Given the description of an element on the screen output the (x, y) to click on. 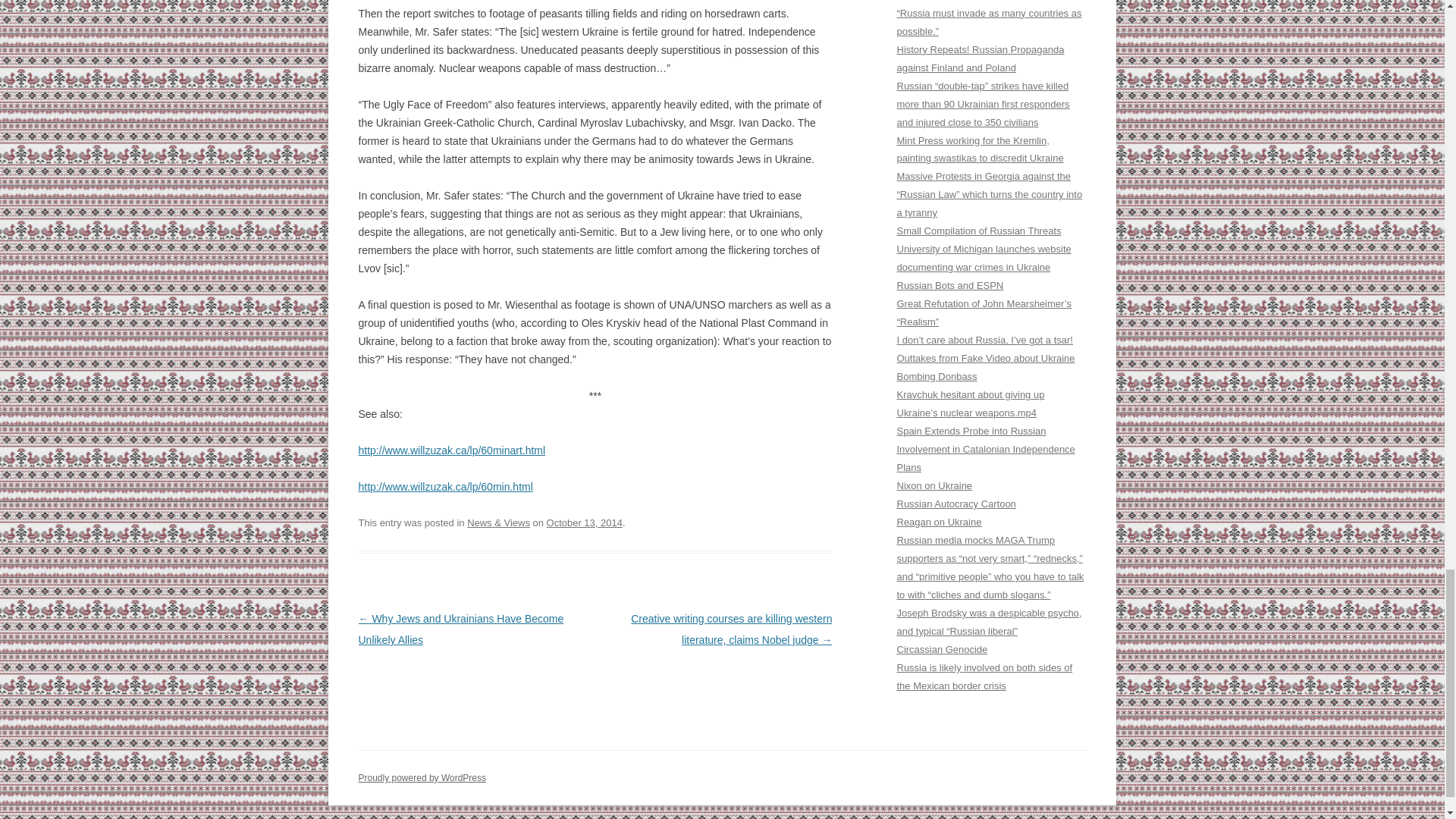
October 13, 2014 (585, 522)
5:54 am (585, 522)
Semantic Personal Publishing Platform (422, 777)
